Given the description of an element on the screen output the (x, y) to click on. 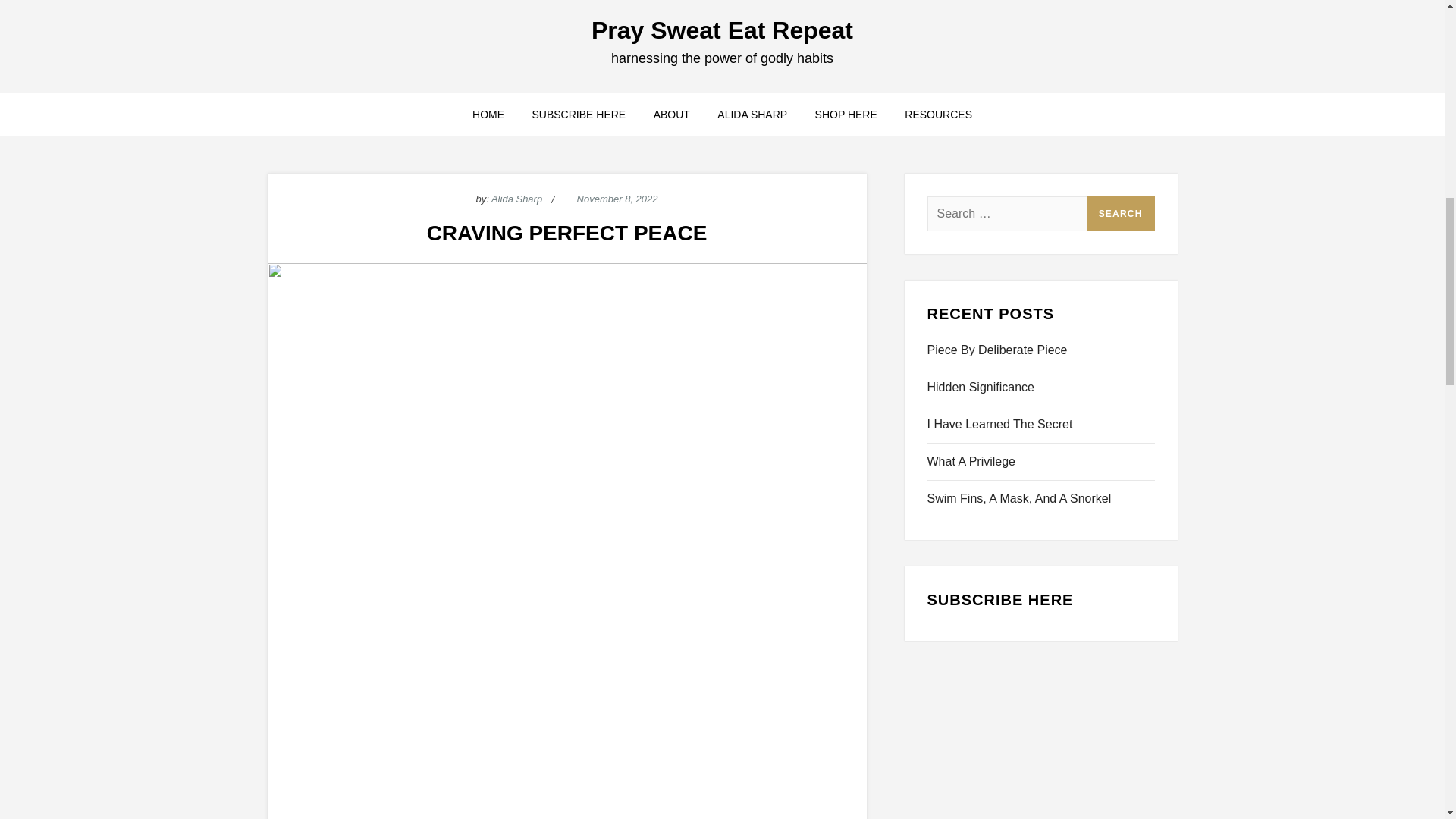
Search (1120, 213)
Piece By Deliberate Piece (996, 350)
ALIDA SHARP (751, 114)
Swim Fins, A Mask, And A Snorkel (1018, 498)
What A Privilege (970, 461)
I Have Learned The Secret (998, 424)
Pray Sweat Eat Repeat (722, 30)
Hidden Significance (979, 387)
November 8, 2022 (617, 198)
SHOP HERE (846, 114)
HOME (488, 114)
Search (1120, 213)
ABOUT (671, 114)
Alida Sharp (516, 198)
RESOURCES (938, 114)
